Given the description of an element on the screen output the (x, y) to click on. 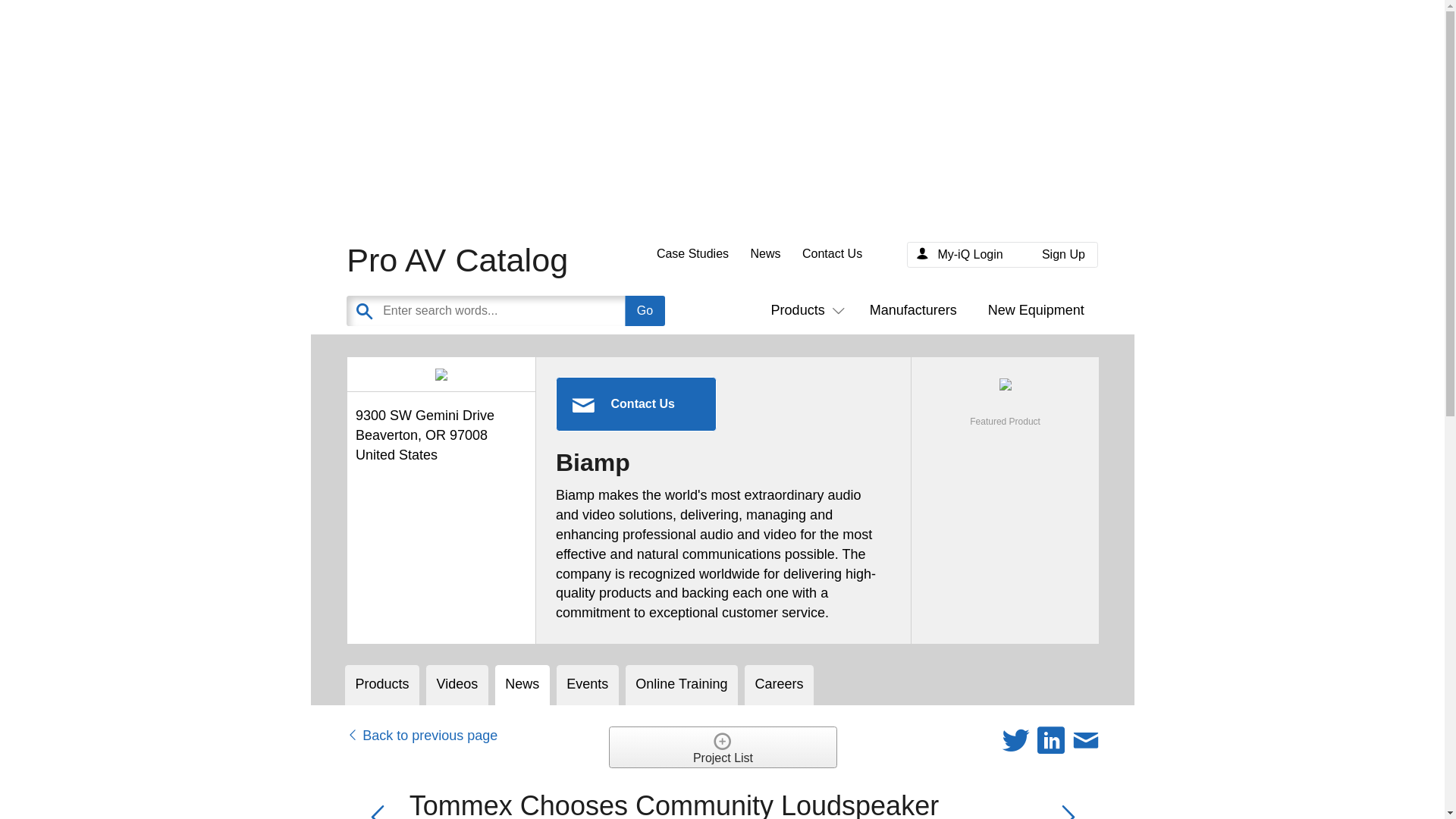
Go (644, 310)
Enter search words... (541, 310)
Go (644, 310)
